Given the description of an element on the screen output the (x, y) to click on. 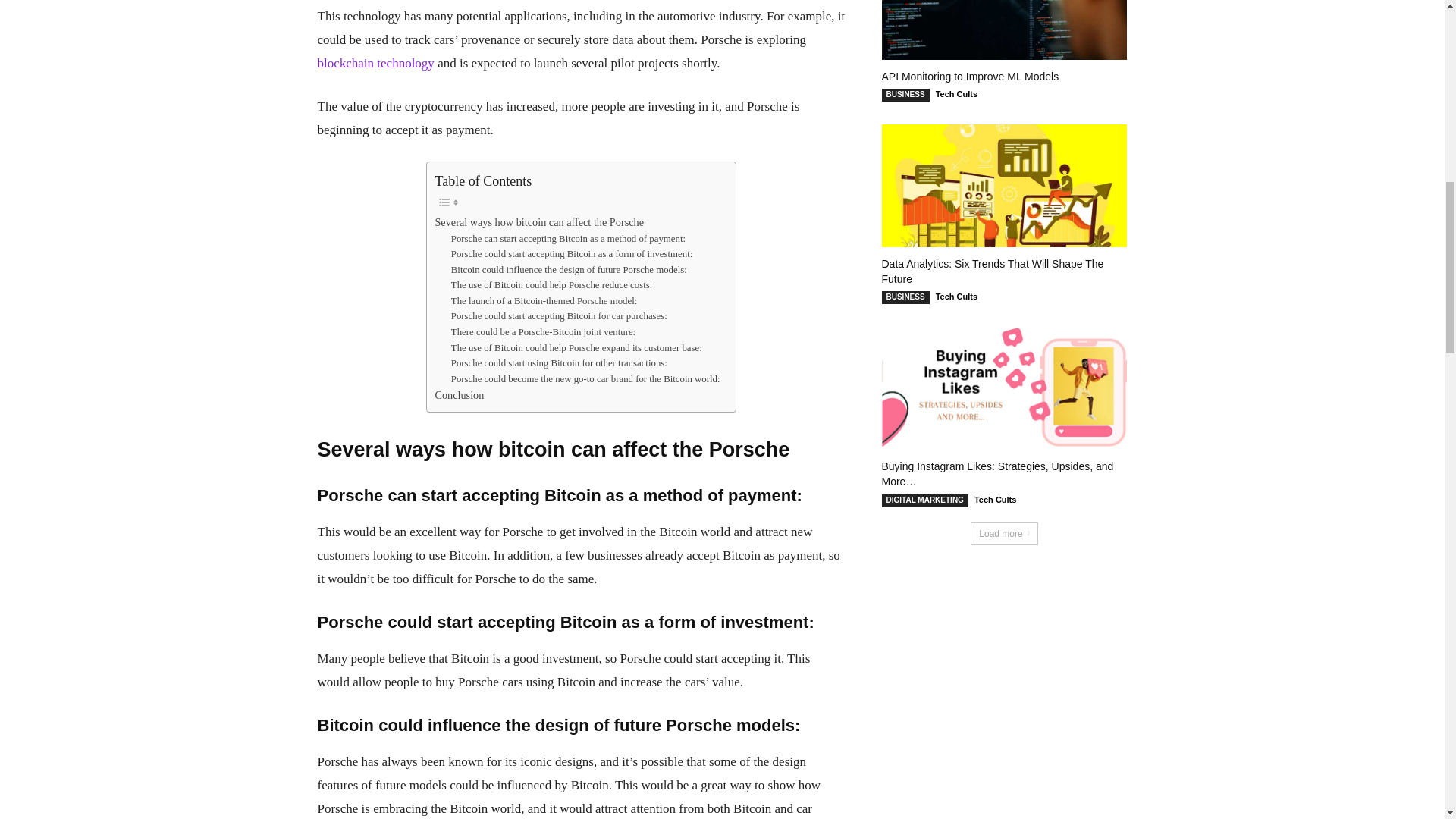
Several ways how bitcoin can affect the Porsche (538, 221)
